Given the description of an element on the screen output the (x, y) to click on. 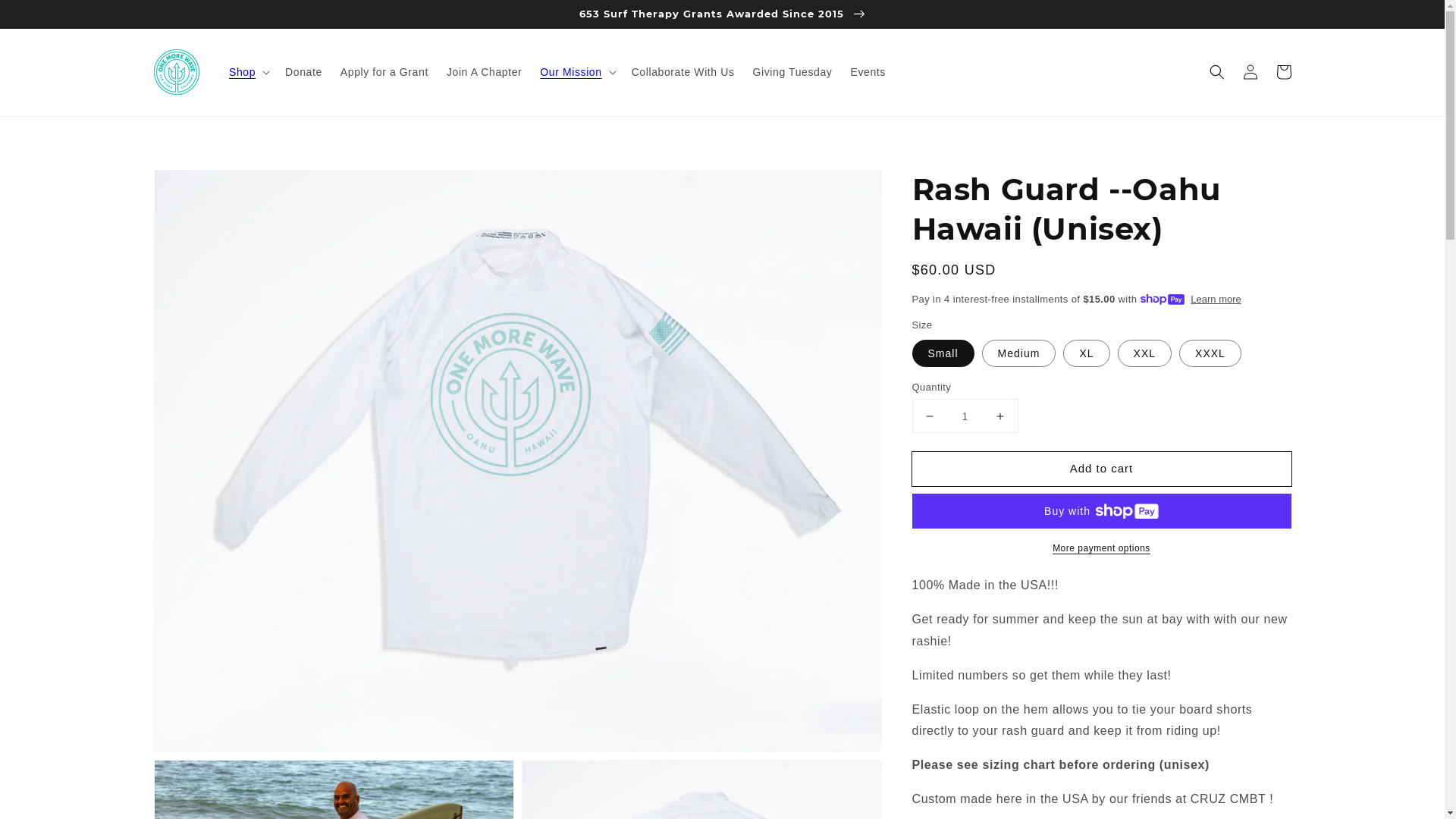
Log in Element type: text (1249, 71)
Decrease quantity for Rash Guard --Oahu Hawaii (Unisex) Element type: text (930, 415)
Skip to product information Element type: text (198, 186)
Donate Element type: text (303, 71)
Events Element type: text (867, 71)
Increase quantity for Rash Guard --Oahu Hawaii (Unisex) Element type: text (999, 415)
Apply for a Grant Element type: text (384, 71)
Our Mission Element type: text (570, 71)
Add to cart Element type: text (1100, 468)
More payment options Element type: text (1100, 547)
Join A Chapter Element type: text (483, 71)
Cart Element type: text (1282, 71)
Giving Tuesday Element type: text (792, 71)
Collaborate With Us Element type: text (682, 71)
Open featured media in gallery view Element type: text (517, 460)
Shop Element type: text (242, 71)
653 Surf Therapy Grants Awarded Since 2015 Element type: text (722, 14)
